Given the description of an element on the screen output the (x, y) to click on. 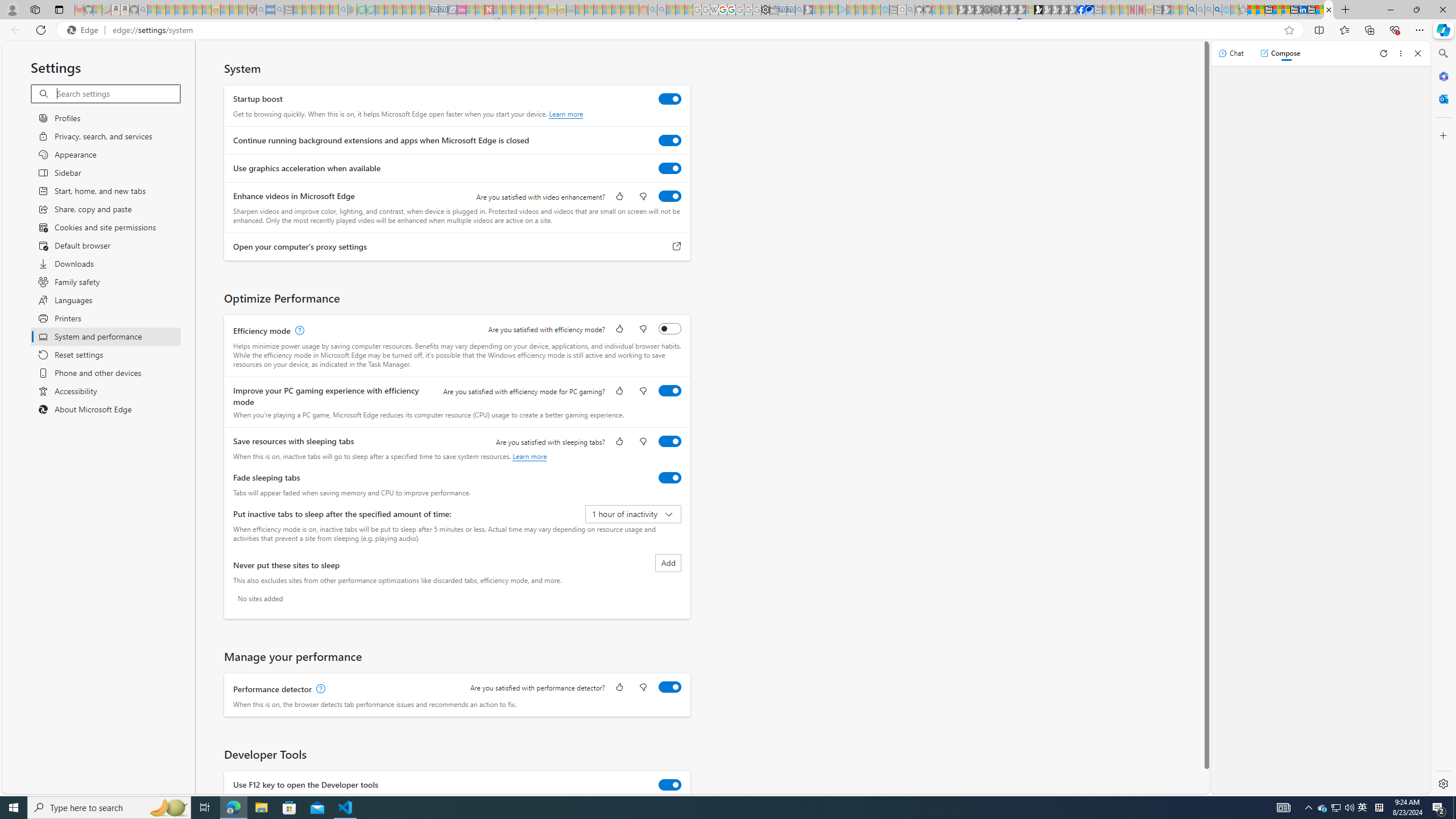
github - Search - Sleeping (910, 9)
Use graphics acceleration when available (669, 167)
Future Focus Report 2024 - Sleeping (995, 9)
Kinda Frugal - MSN - Sleeping (616, 9)
